Given the description of an element on the screen output the (x, y) to click on. 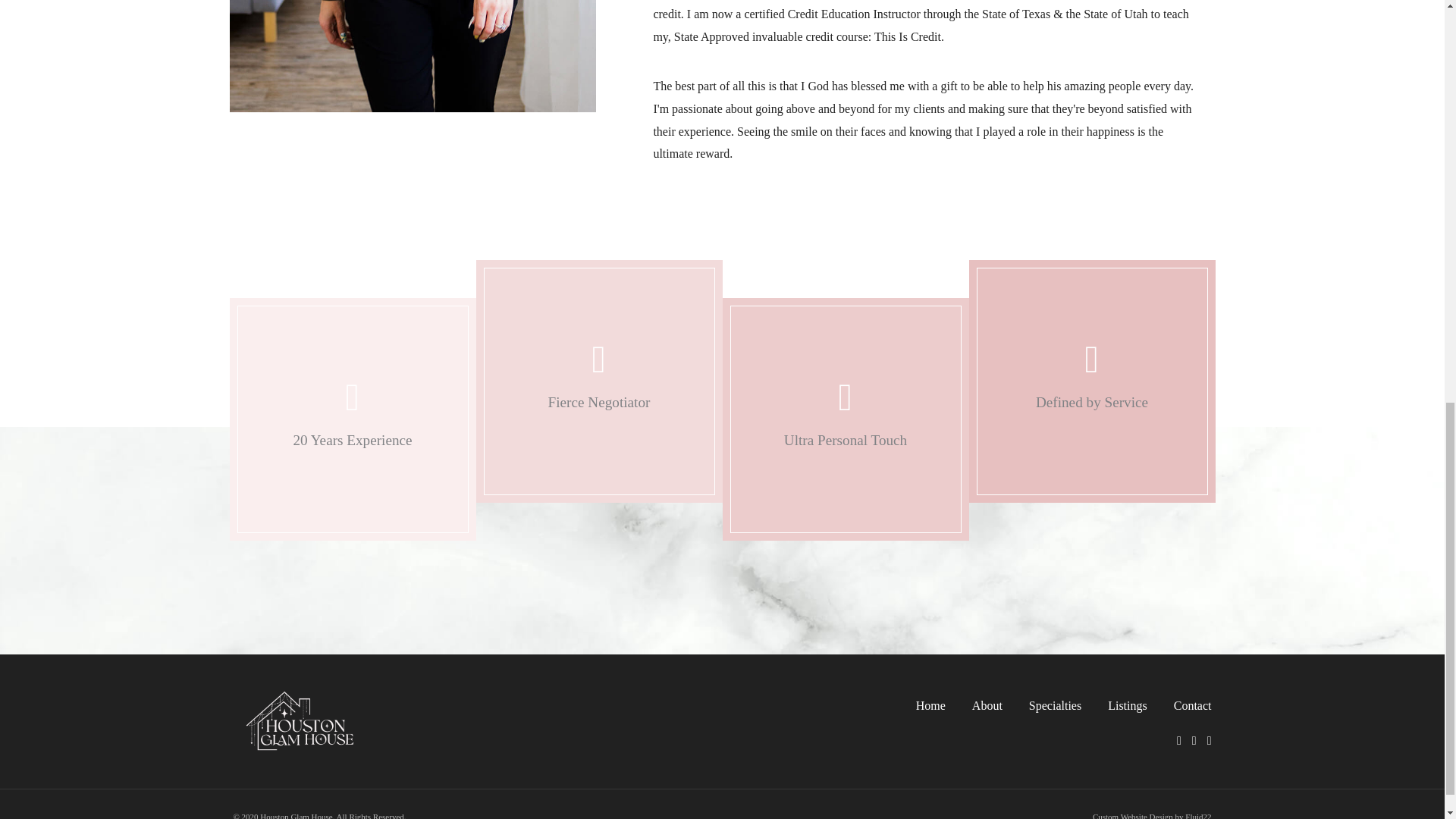
about-shaunna (411, 56)
cropped-Artboard-6.png (299, 721)
About (976, 705)
Home (918, 705)
Specialties (1043, 705)
Listings (1115, 705)
Custom Website Design by Fluid22 (1152, 815)
Contact (1181, 705)
